Given the description of an element on the screen output the (x, y) to click on. 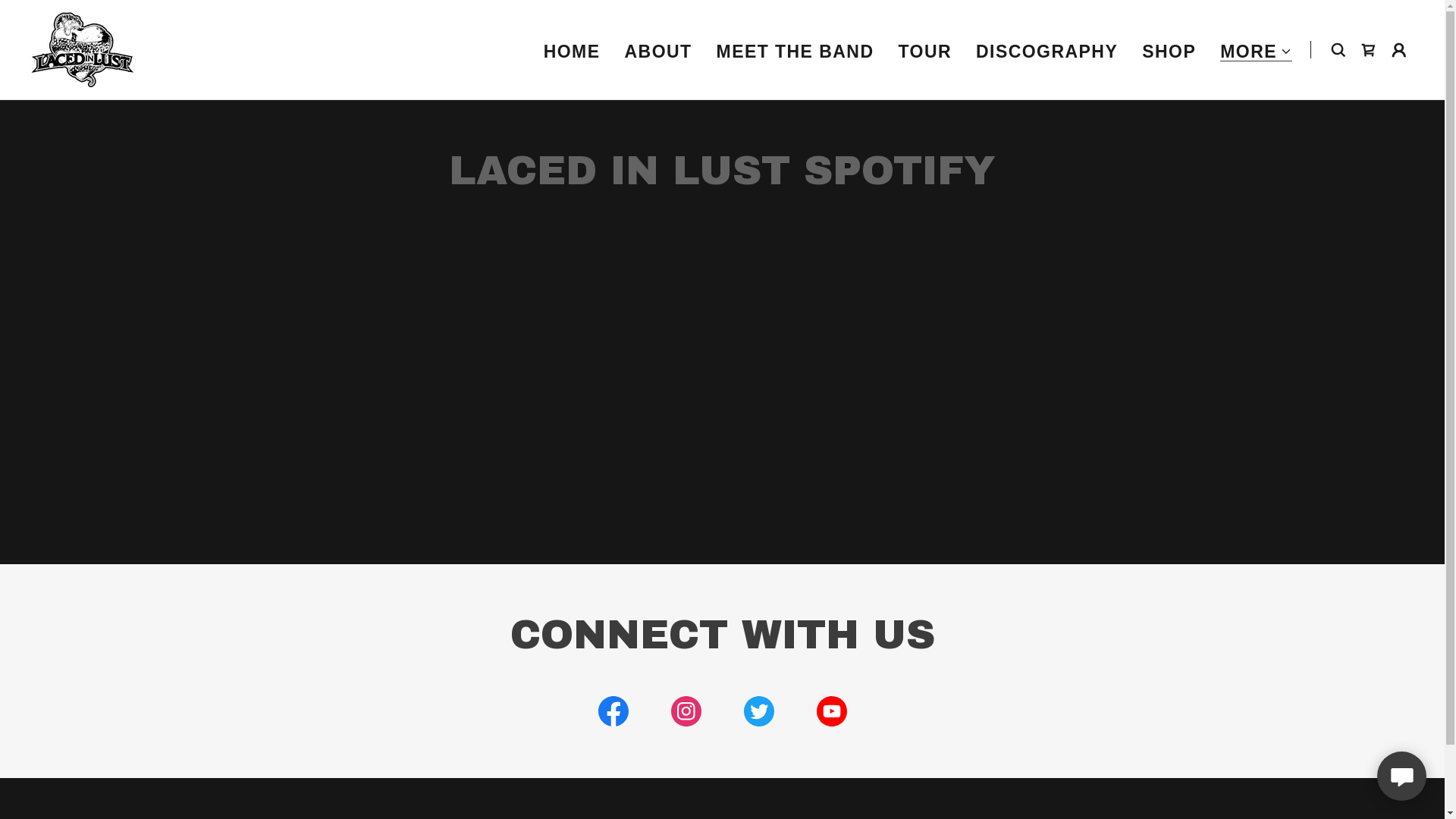
SHOP Element type: text (1168, 51)
HOME Element type: text (572, 51)
Laced In Lust Element type: hover (82, 48)
MEET THE BAND Element type: text (795, 51)
DISCOGRAPHY Element type: text (1046, 51)
MORE Element type: text (1256, 51)
ABOUT Element type: text (658, 51)
TOUR Element type: text (924, 51)
